Given the description of an element on the screen output the (x, y) to click on. 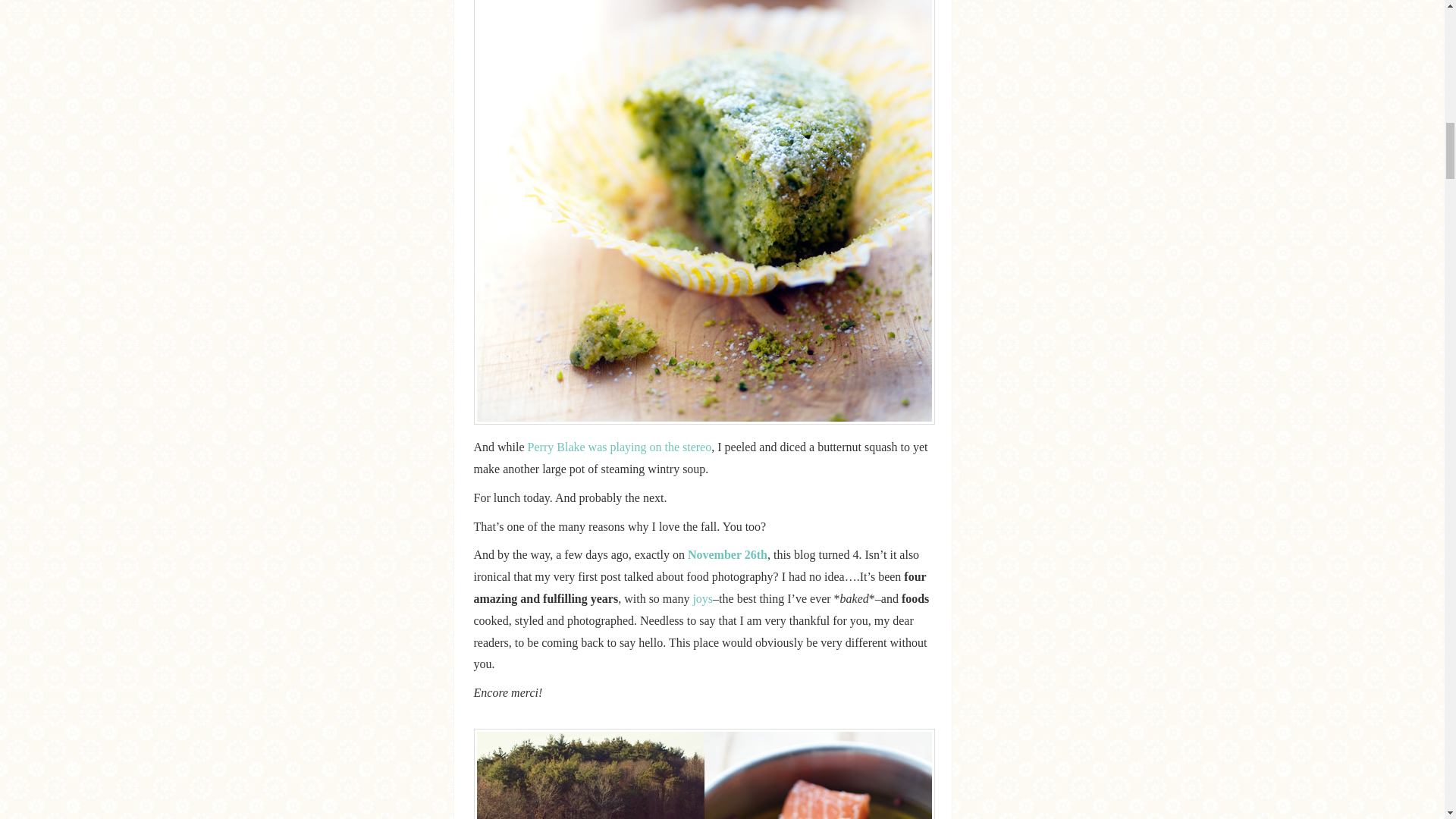
joys (703, 598)
November 26th (727, 554)
Perry Blake was playing on the stereo (617, 446)
